Given the description of an element on the screen output the (x, y) to click on. 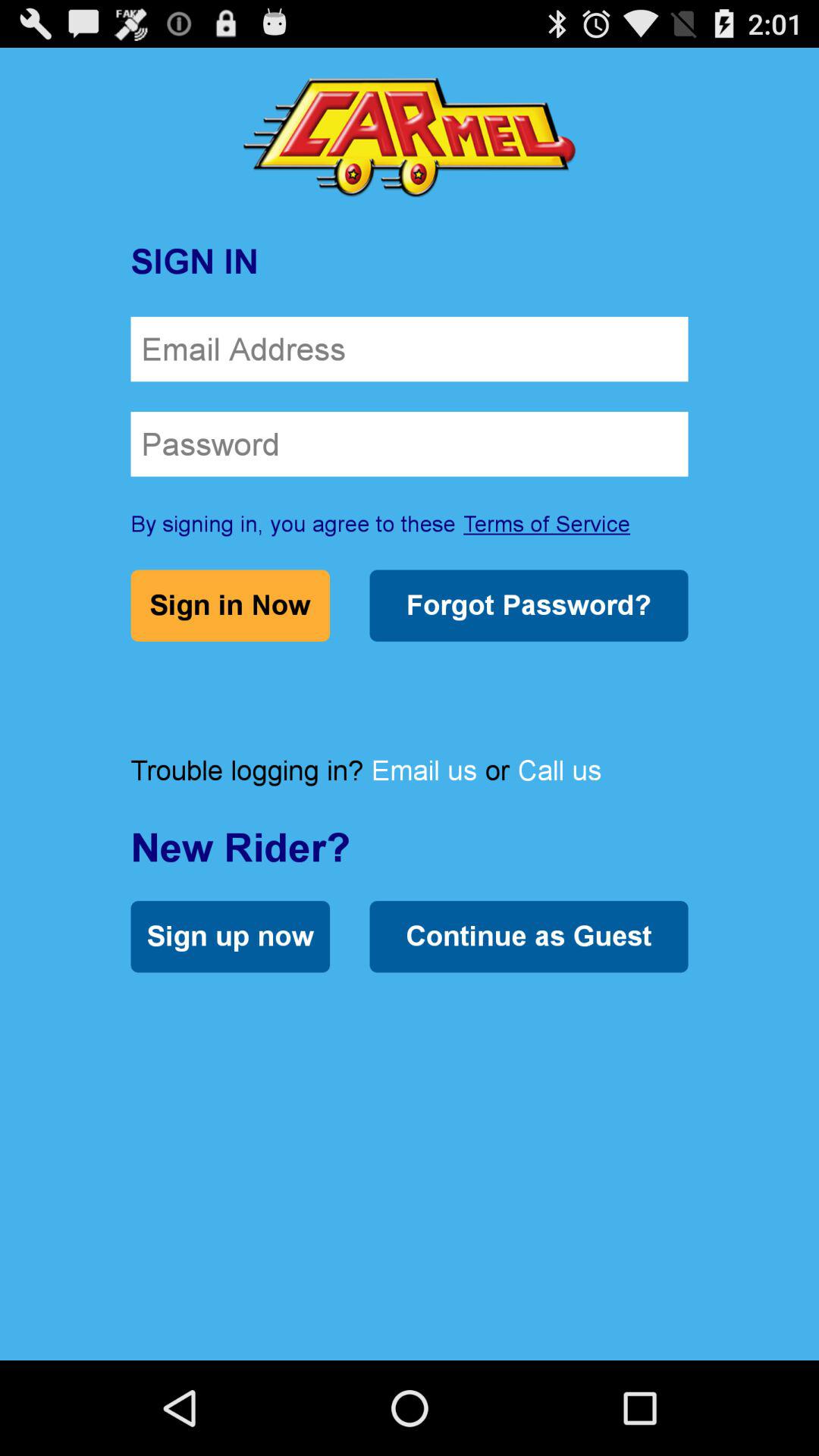
scroll until email us  icon (424, 770)
